Given the description of an element on the screen output the (x, y) to click on. 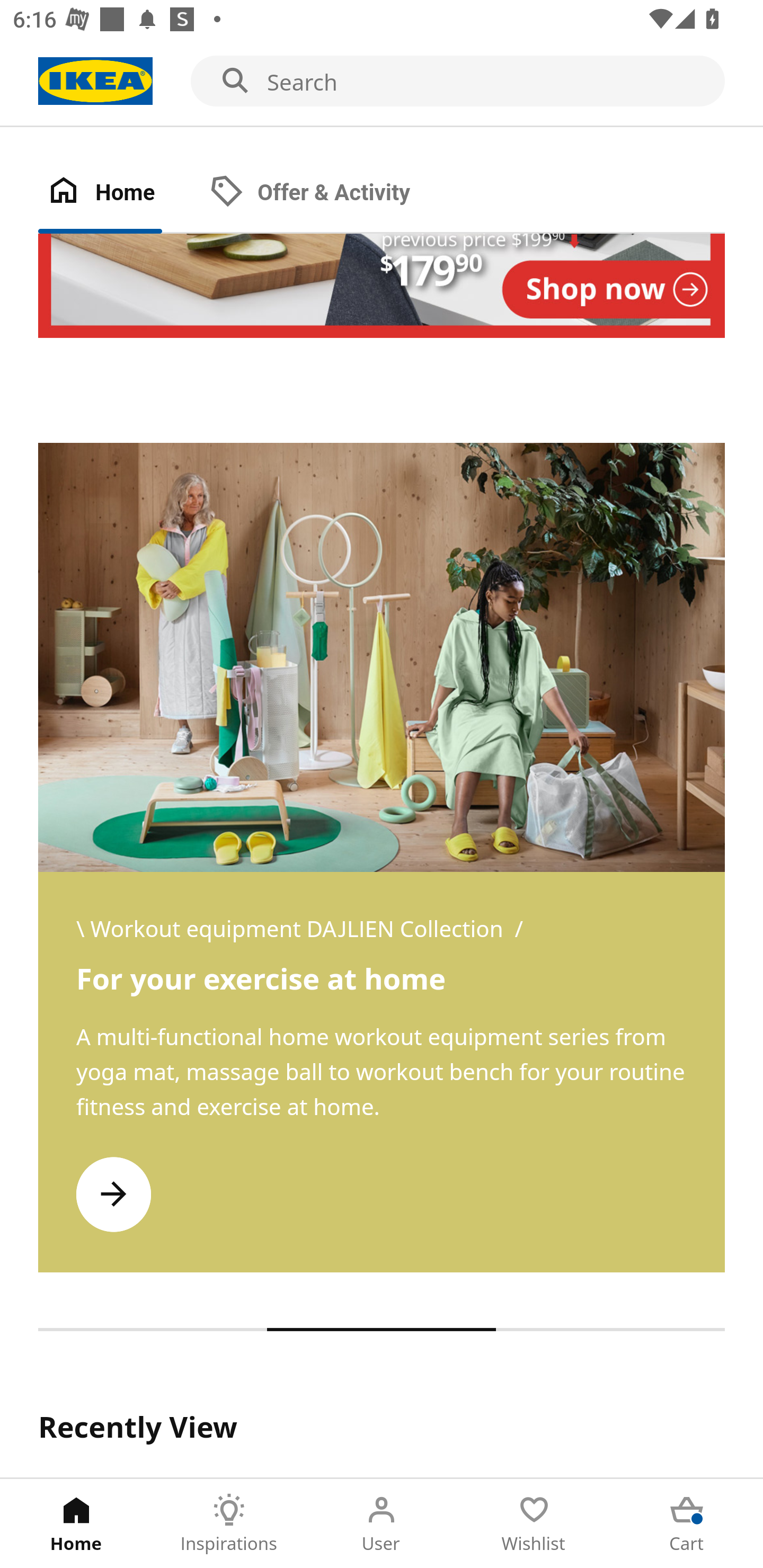
Search (381, 81)
Home
Tab 1 of 2 (118, 192)
Offer & Activity
Tab 2 of 2 (327, 192)
Home
Tab 1 of 5 (76, 1522)
Inspirations
Tab 2 of 5 (228, 1522)
User
Tab 3 of 5 (381, 1522)
Wishlist
Tab 4 of 5 (533, 1522)
Cart
Tab 5 of 5 (686, 1522)
